Given the description of an element on the screen output the (x, y) to click on. 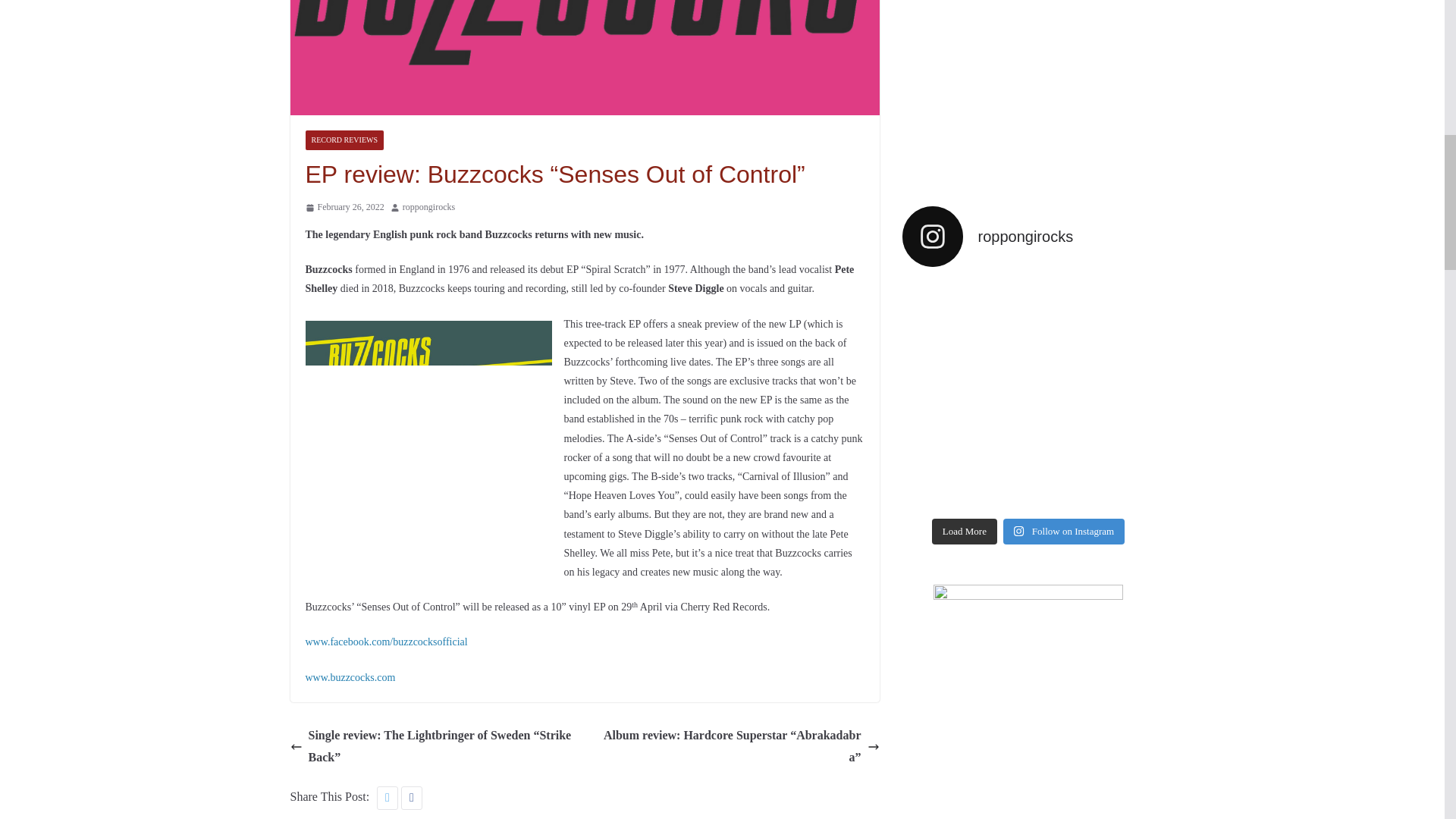
10:35 PM (344, 207)
www.buzzcocks.com (349, 677)
roppongirocks (428, 207)
February 26, 2022 (344, 207)
roppongirocks (428, 207)
RECORD REVIEWS (344, 139)
